Given the description of an element on the screen output the (x, y) to click on. 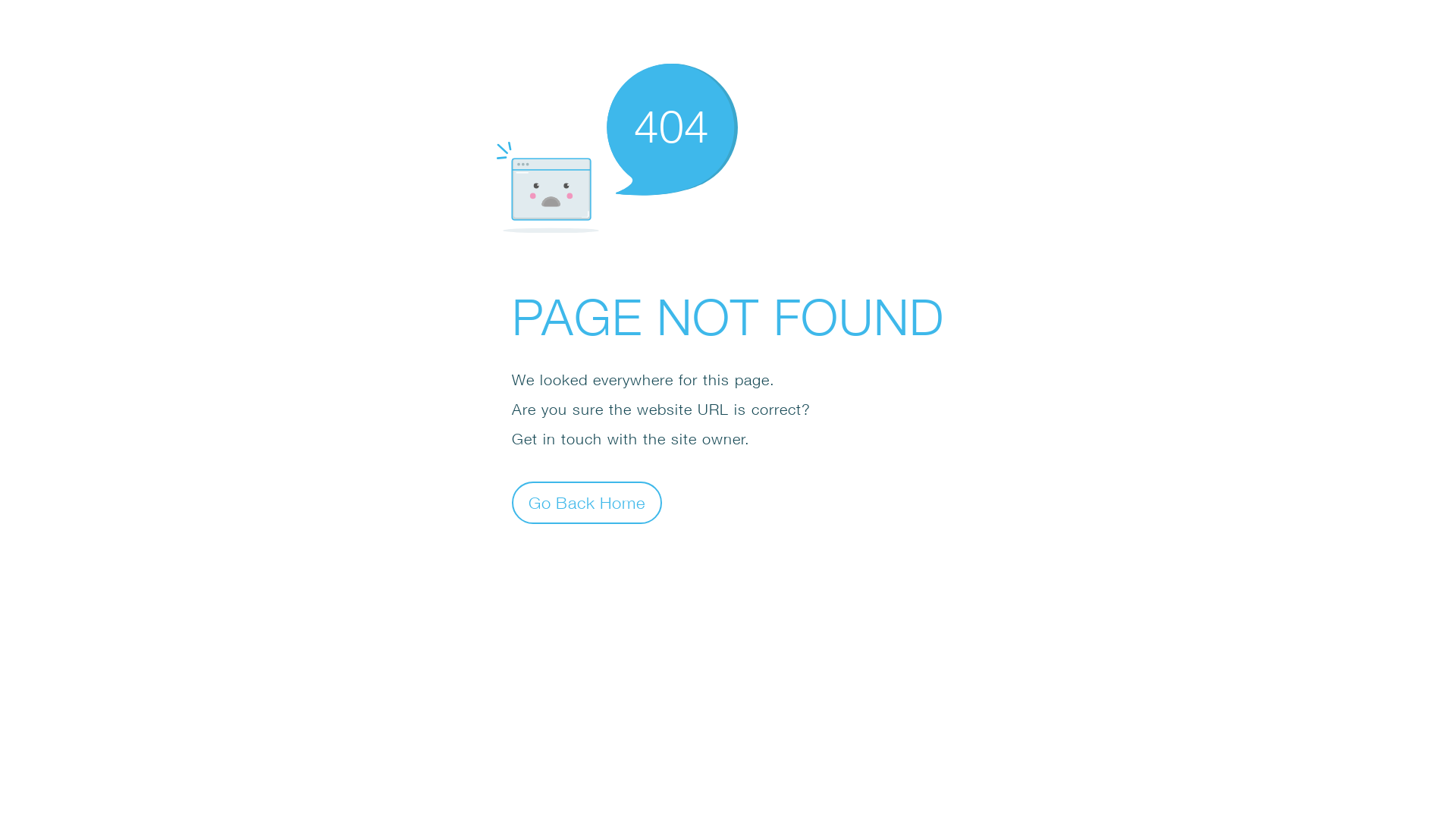
Go Back Home Element type: text (586, 502)
